Given the description of an element on the screen output the (x, y) to click on. 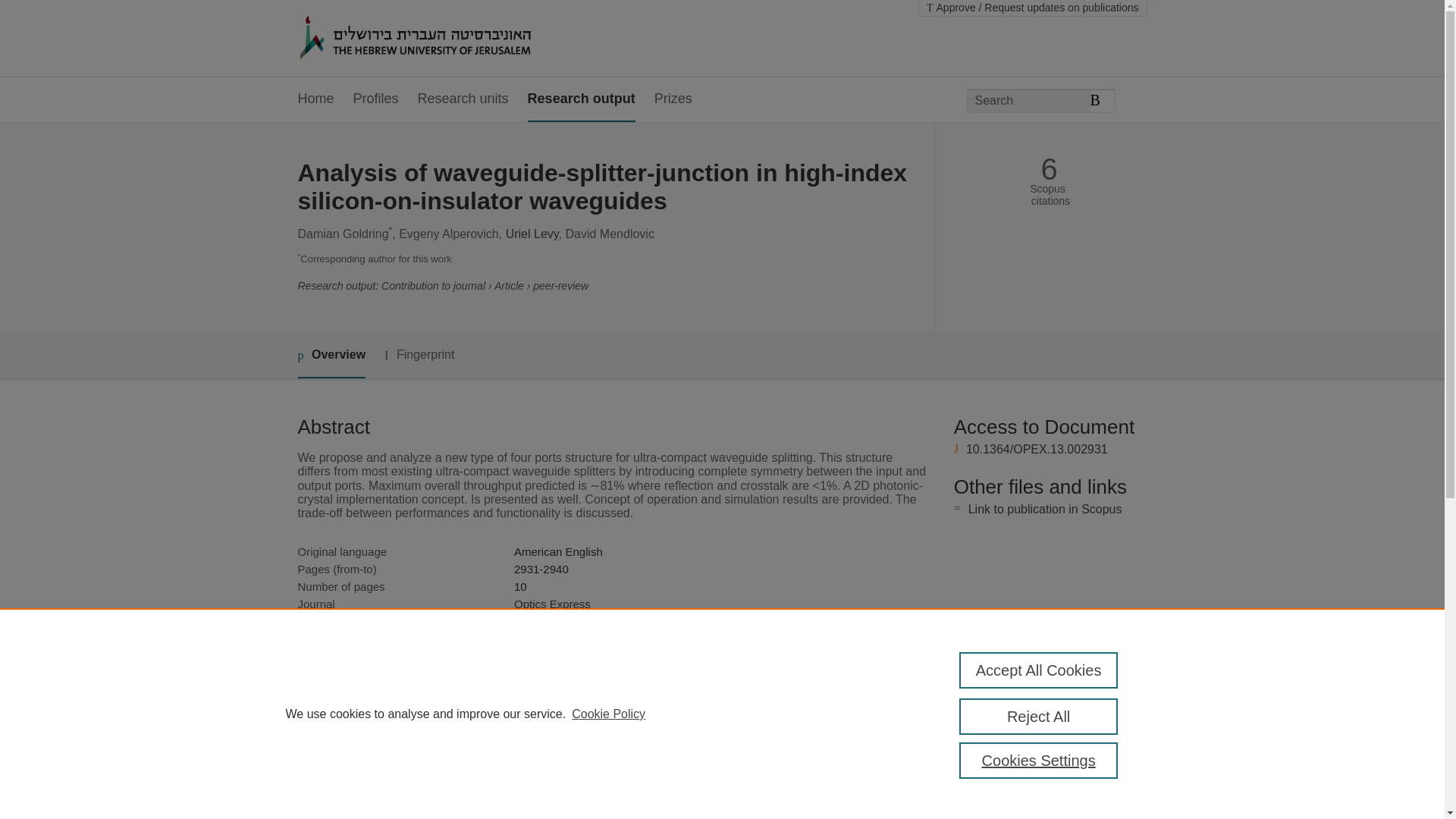
Research units (462, 99)
Uriel Levy (532, 233)
Cookie Policy (608, 713)
Link to publication in Scopus (1045, 508)
The Hebrew University of Jerusalem Home (447, 38)
Profiles (375, 99)
Research output (580, 99)
Overview (331, 355)
Cookies Settings (1038, 760)
Reject All (1038, 716)
Fingerprint (419, 354)
Optics Express (552, 603)
Accept All Cookies (1038, 669)
